Given the description of an element on the screen output the (x, y) to click on. 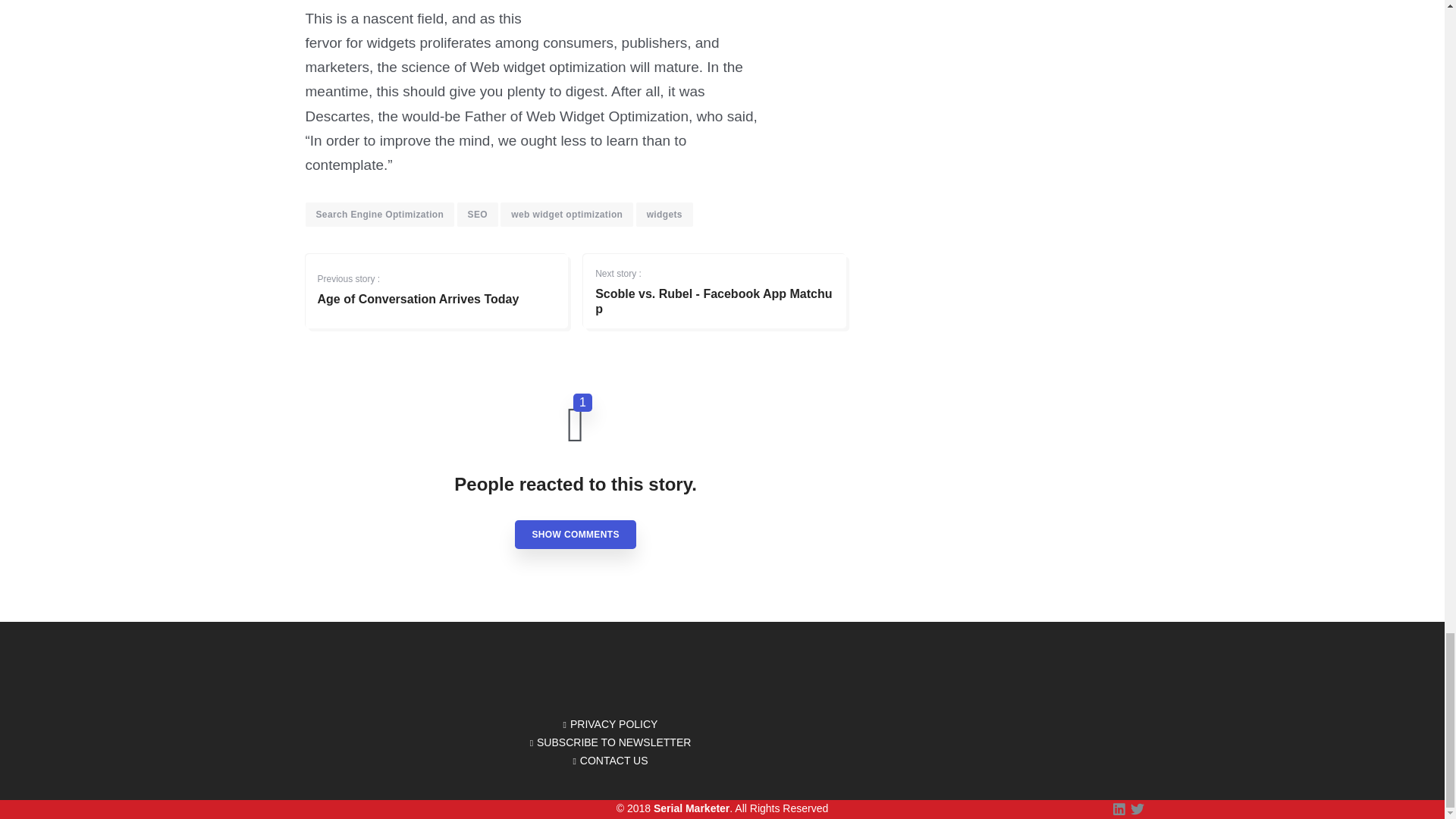
SEO (477, 214)
SHOW COMMENTS (714, 283)
widgets (574, 534)
Search Engine Optimization (664, 214)
web widget optimization (379, 214)
